Given the description of an element on the screen output the (x, y) to click on. 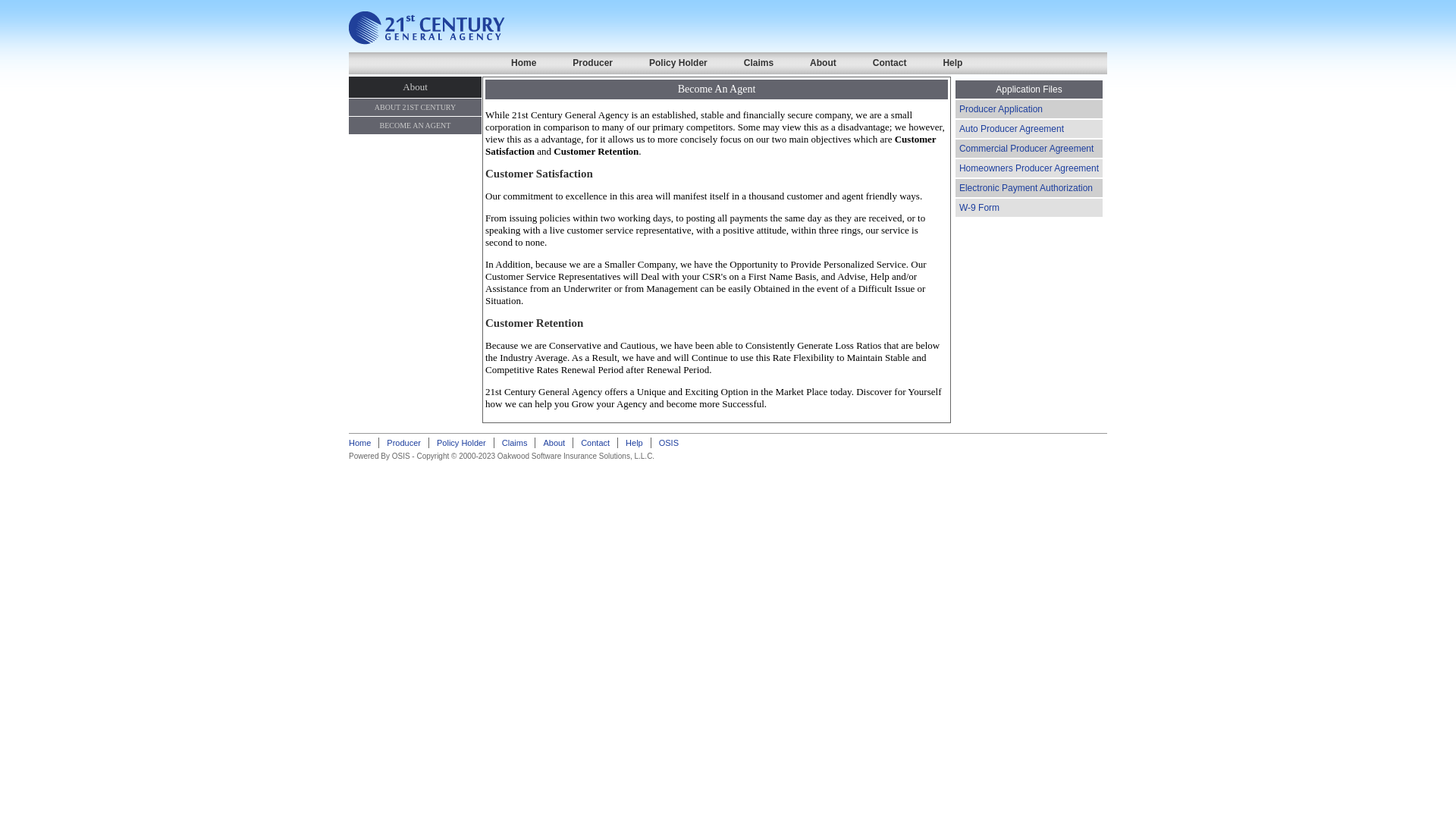
Policy Holder Element type: text (461, 442)
ABOUT 21ST CENTURY Element type: text (414, 107)
Home Element type: text (523, 62)
Producer Element type: text (592, 62)
Producer Element type: text (403, 442)
BECOME AN AGENT Element type: text (414, 125)
Claims Element type: text (514, 442)
About Element type: text (822, 62)
Policy Holder Element type: text (677, 62)
Contact Element type: text (889, 62)
Help Element type: text (952, 62)
About Element type: text (553, 442)
Contact Element type: text (594, 442)
Home Element type: text (359, 442)
OSIS Element type: text (668, 442)
Homeowners Producer Agreement Element type: text (1028, 168)
Auto Producer Agreement Element type: text (1011, 128)
Electronic Payment Authorization Element type: text (1025, 187)
Claims Element type: text (758, 62)
Commercial Producer Agreement Element type: text (1026, 148)
Help Element type: text (634, 442)
W-9 Form Element type: text (979, 207)
Producer Application Element type: text (1000, 108)
